Given the description of an element on the screen output the (x, y) to click on. 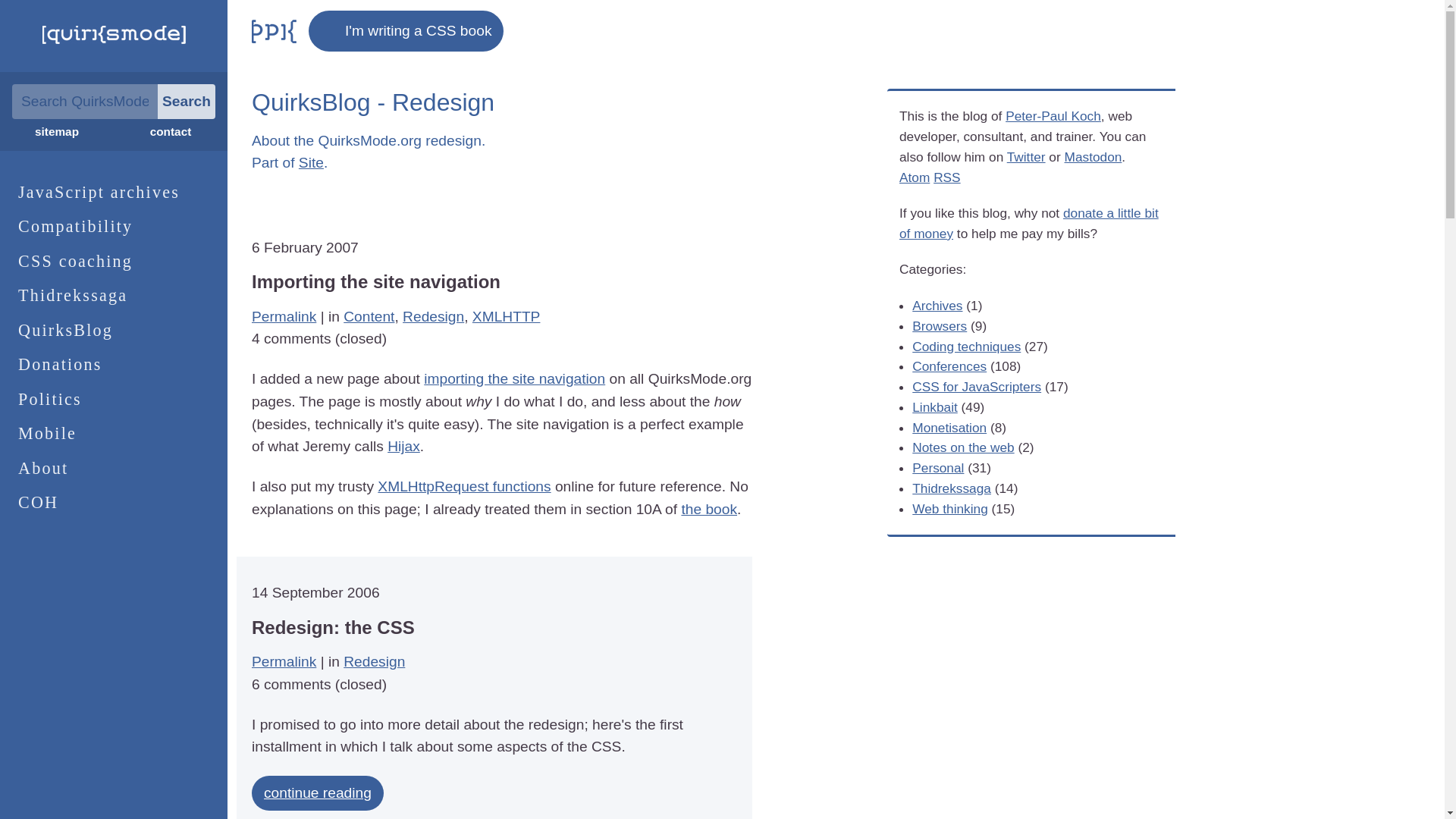
Thidrekssaga (113, 295)
Coding techniques (966, 346)
Conferences I attended (949, 365)
RSS (946, 177)
Search (186, 101)
Atom (914, 177)
Personal (937, 467)
About my life (937, 467)
Hijax (403, 446)
Browser news (939, 325)
